Given the description of an element on the screen output the (x, y) to click on. 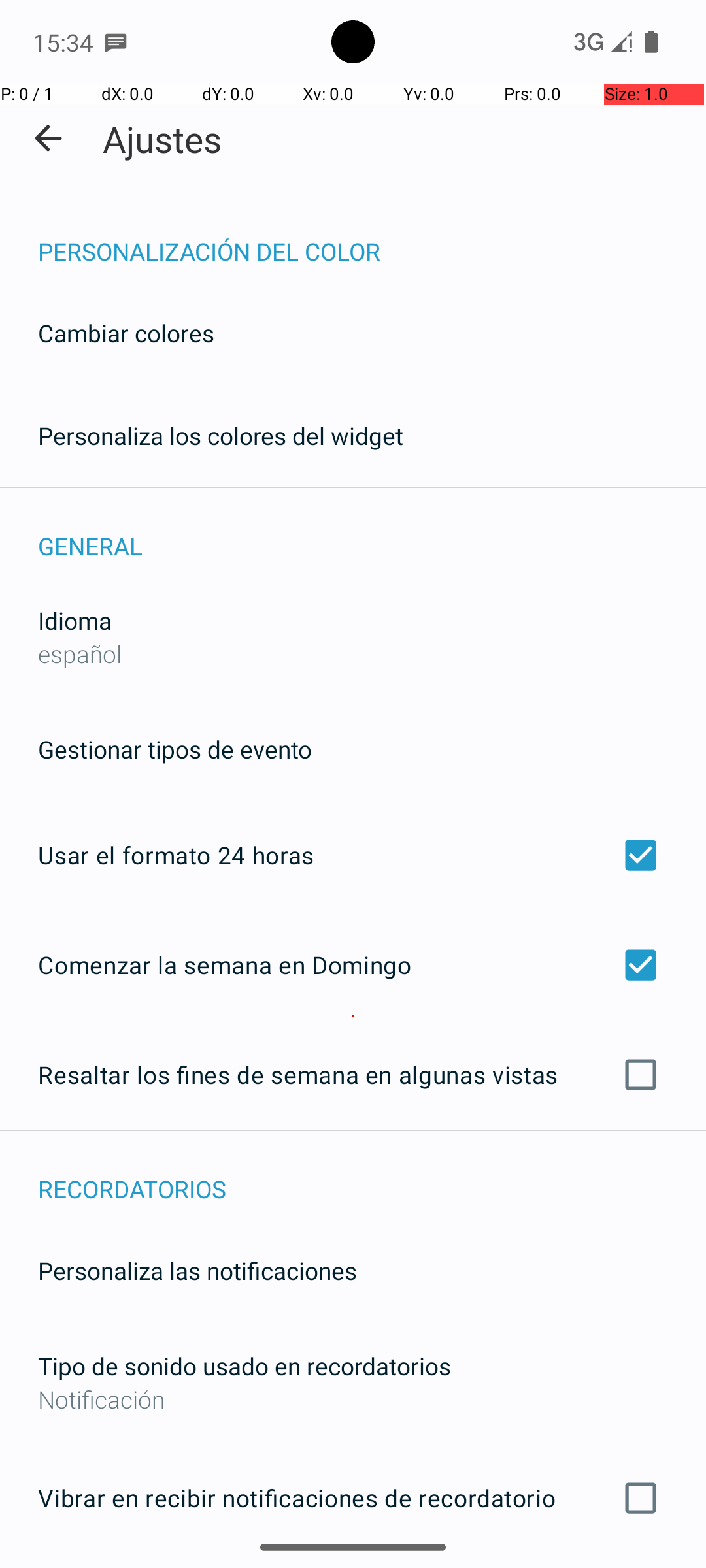
PERSONALIZACIÓN DEL COLOR Element type: android.widget.TextView (371, 237)
RECORDATORIOS Element type: android.widget.TextView (371, 1174)
Cambiar colores Element type: android.widget.TextView (125, 332)
Personaliza los colores del widget Element type: android.widget.TextView (220, 435)
Idioma Element type: android.widget.TextView (74, 620)
español Element type: android.widget.TextView (79, 653)
Usar el formato 24 horas Element type: android.widget.CheckBox (352, 855)
Comenzar la semana en Domingo Element type: android.widget.CheckBox (352, 964)
Resaltar los fines de semana en algunas vistas Element type: android.widget.CheckBox (352, 1074)
Personaliza las notificaciones Element type: android.widget.TextView (196, 1270)
Tipo de sonido usado en recordatorios Element type: android.widget.TextView (244, 1365)
Notificación Element type: android.widget.TextView (352, 1398)
Vibrar en recibir notificaciones de recordatorio Element type: android.widget.CheckBox (352, 1497)
Repetir recordatorios hasta ser descartados Element type: android.widget.CheckBox (352, 1567)
